Given the description of an element on the screen output the (x, y) to click on. 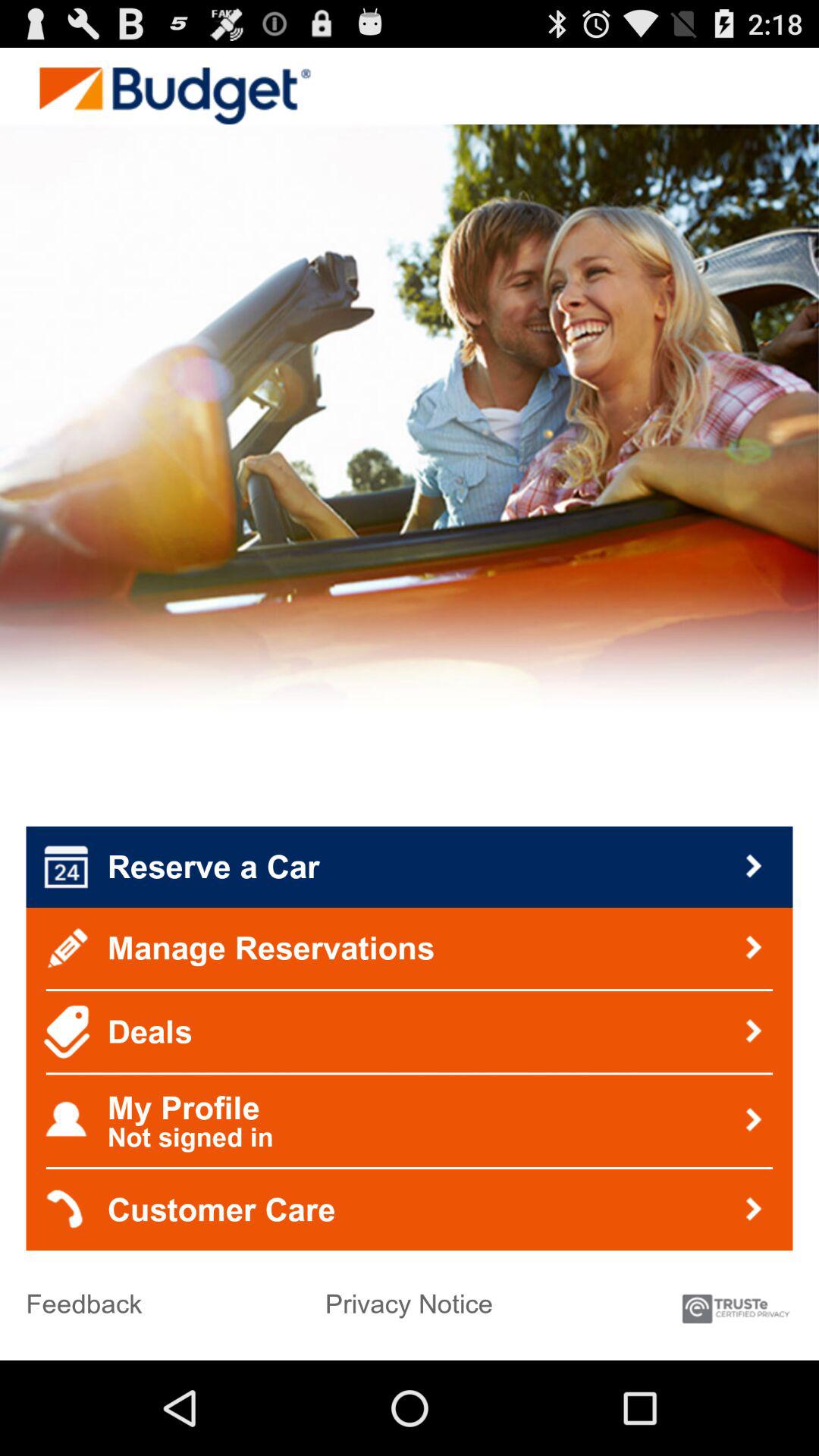
scroll to feedback icon (84, 1297)
